Given the description of an element on the screen output the (x, y) to click on. 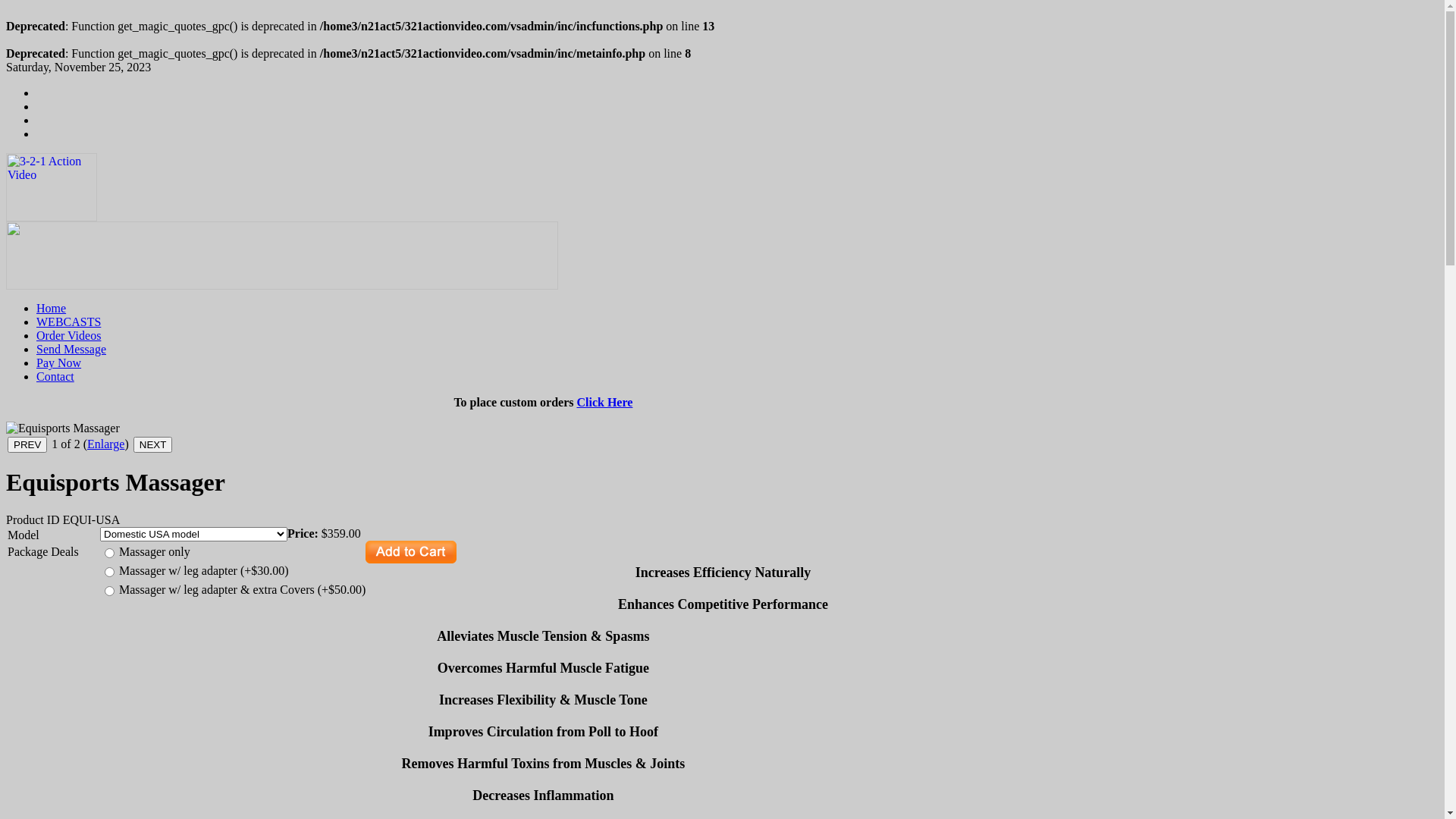
Pay Now Element type: text (58, 362)
147 Element type: text (109, 553)
Click Here Element type: text (604, 401)
WEBCASTS Element type: text (68, 321)
149 Element type: text (109, 591)
Order Videos Element type: text (68, 335)
Send Message Element type: text (71, 348)
PREV Element type: text (27, 444)
Home Element type: text (50, 307)
148 Element type: text (109, 572)
Enlarge Element type: text (105, 443)
NEXT Element type: text (152, 444)
Contact Element type: text (55, 376)
